Given the description of an element on the screen output the (x, y) to click on. 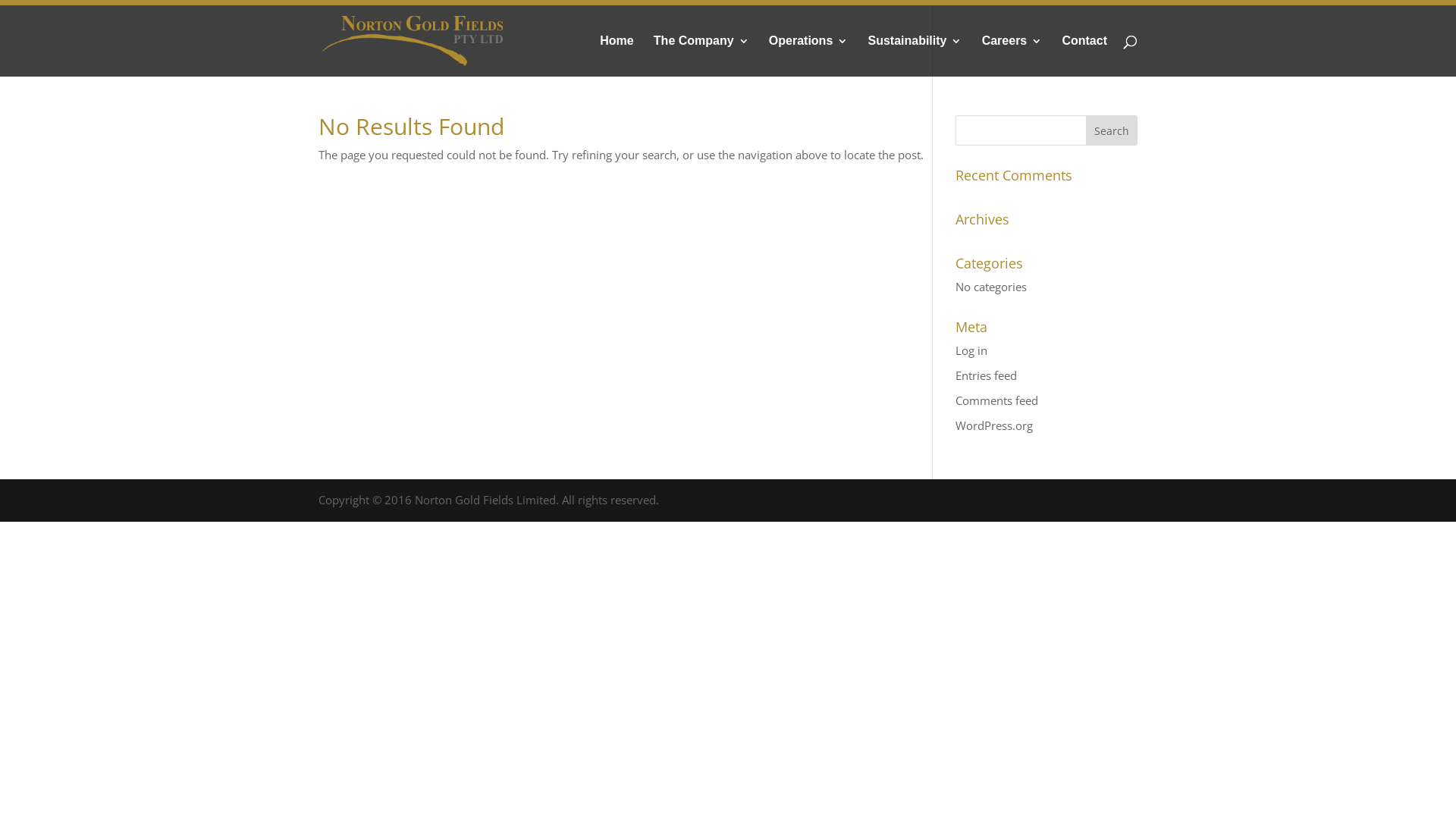
Entries feed Element type: text (985, 374)
Log in Element type: text (971, 349)
Home Element type: text (616, 55)
Comments feed Element type: text (996, 399)
Search Element type: text (1111, 130)
Careers Element type: text (1012, 55)
Sustainability Element type: text (914, 55)
WordPress.org Element type: text (993, 424)
The Company Element type: text (701, 55)
Operations Element type: text (807, 55)
Contact Element type: text (1084, 55)
